Given the description of an element on the screen output the (x, y) to click on. 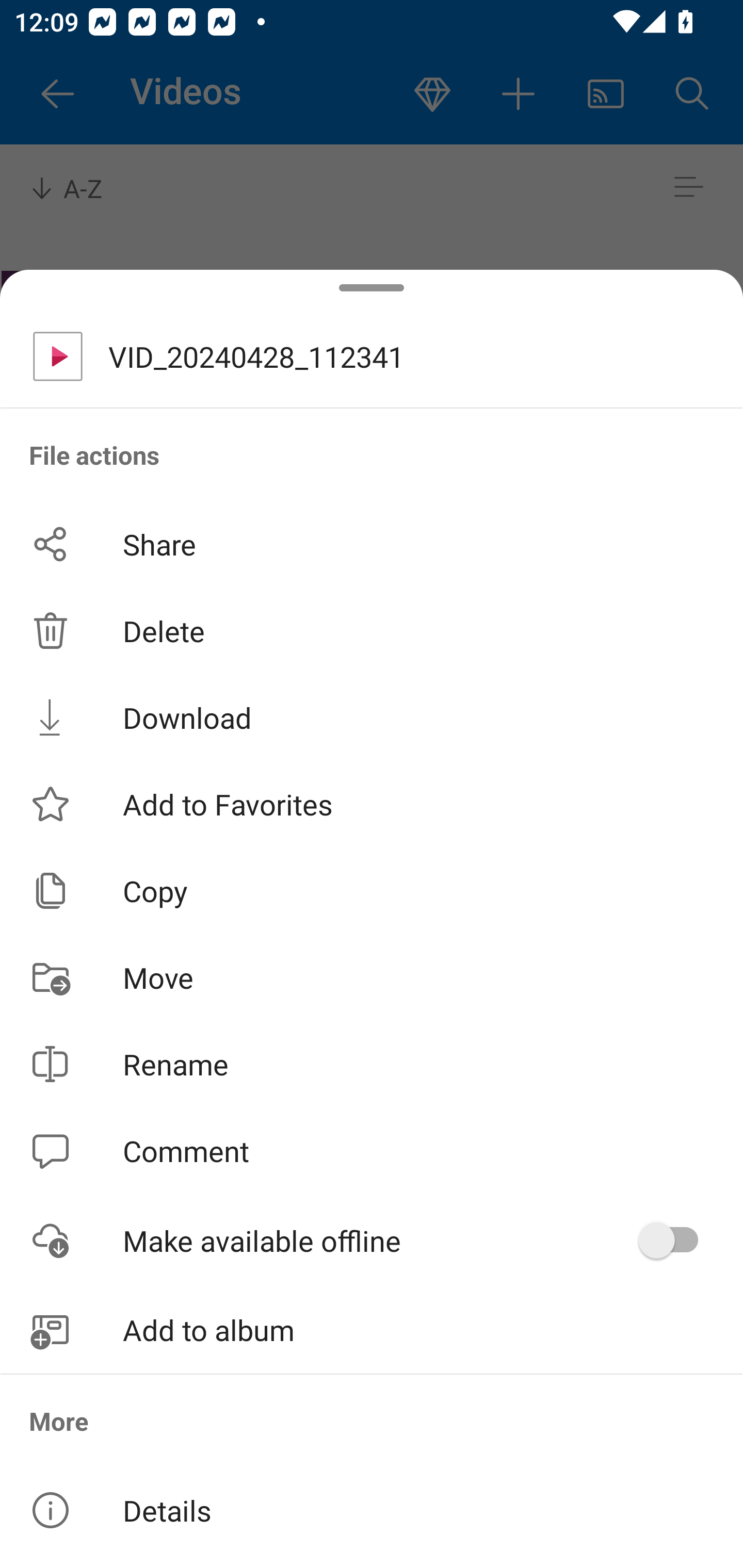
Share button Share (371, 544)
Delete button Delete (371, 631)
Download button Download (371, 717)
Add to Favorites button Add to Favorites (371, 803)
Copy button Copy (371, 890)
Move button Move (371, 977)
Rename button Rename (371, 1063)
Comment button Comment (371, 1150)
Make offline operation (674, 1240)
Add to album button Add to album (371, 1329)
Details button Details (371, 1510)
